Given the description of an element on the screen output the (x, y) to click on. 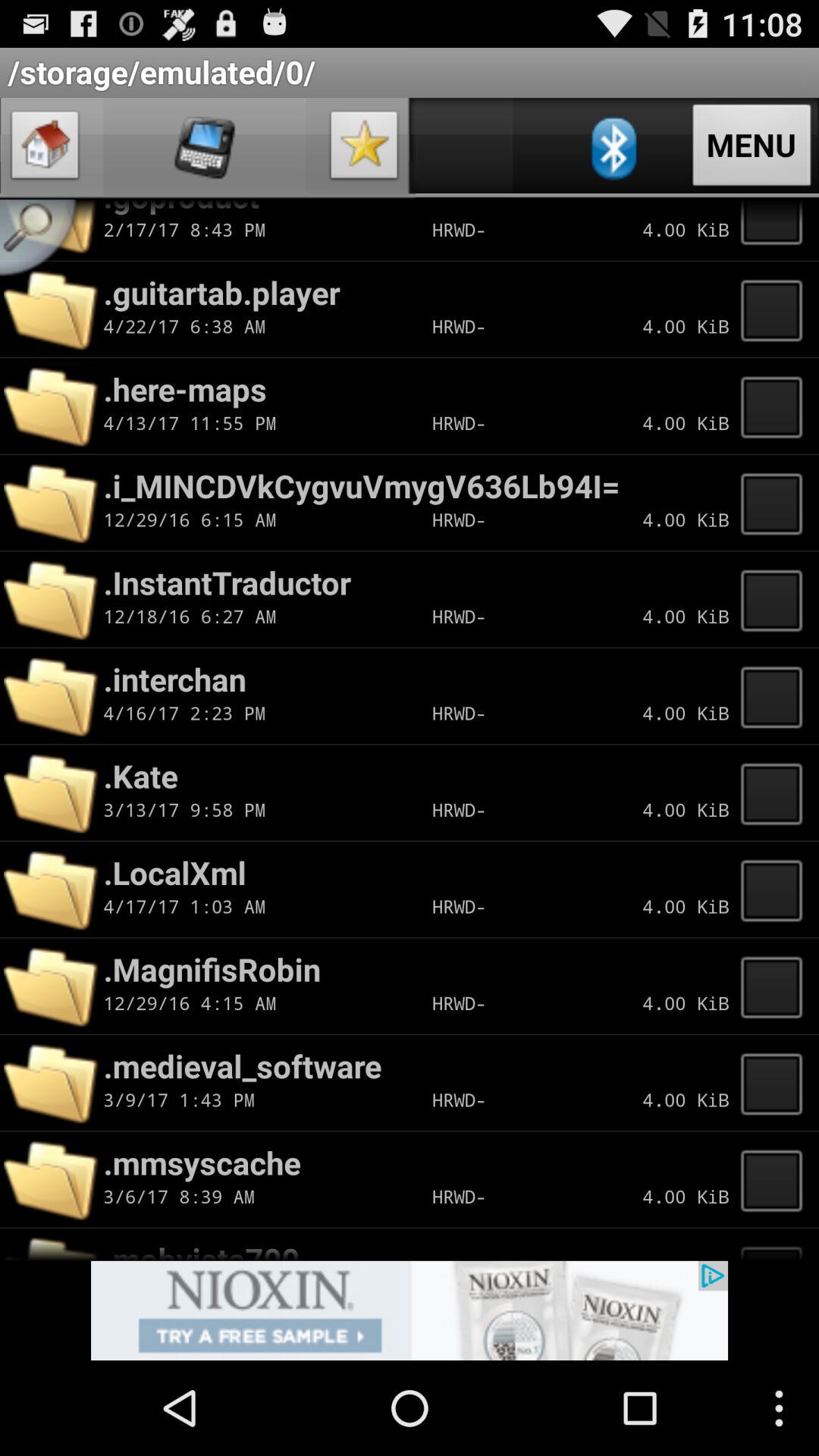
empty box (776, 695)
